Given the description of an element on the screen output the (x, y) to click on. 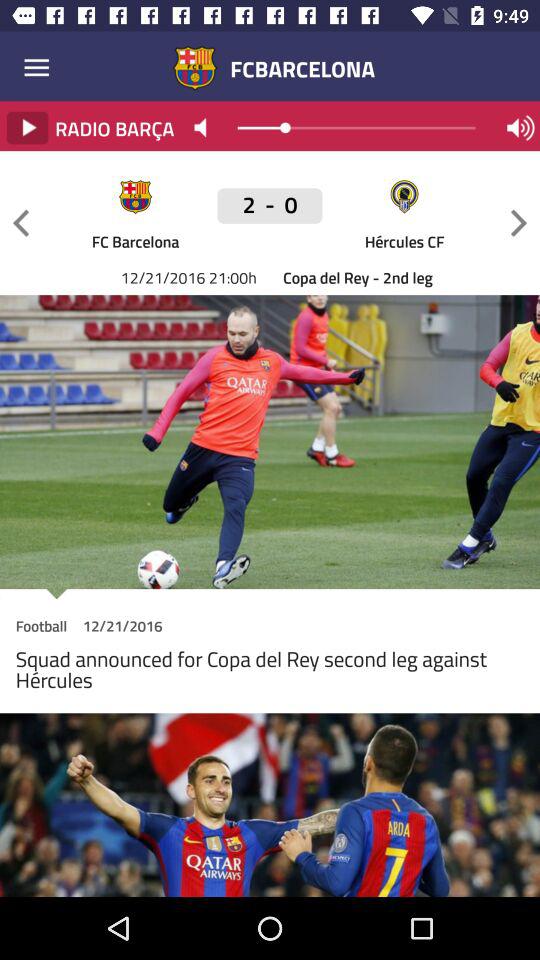
turn off the icon above the copa del rey (518, 222)
